Given the description of an element on the screen output the (x, y) to click on. 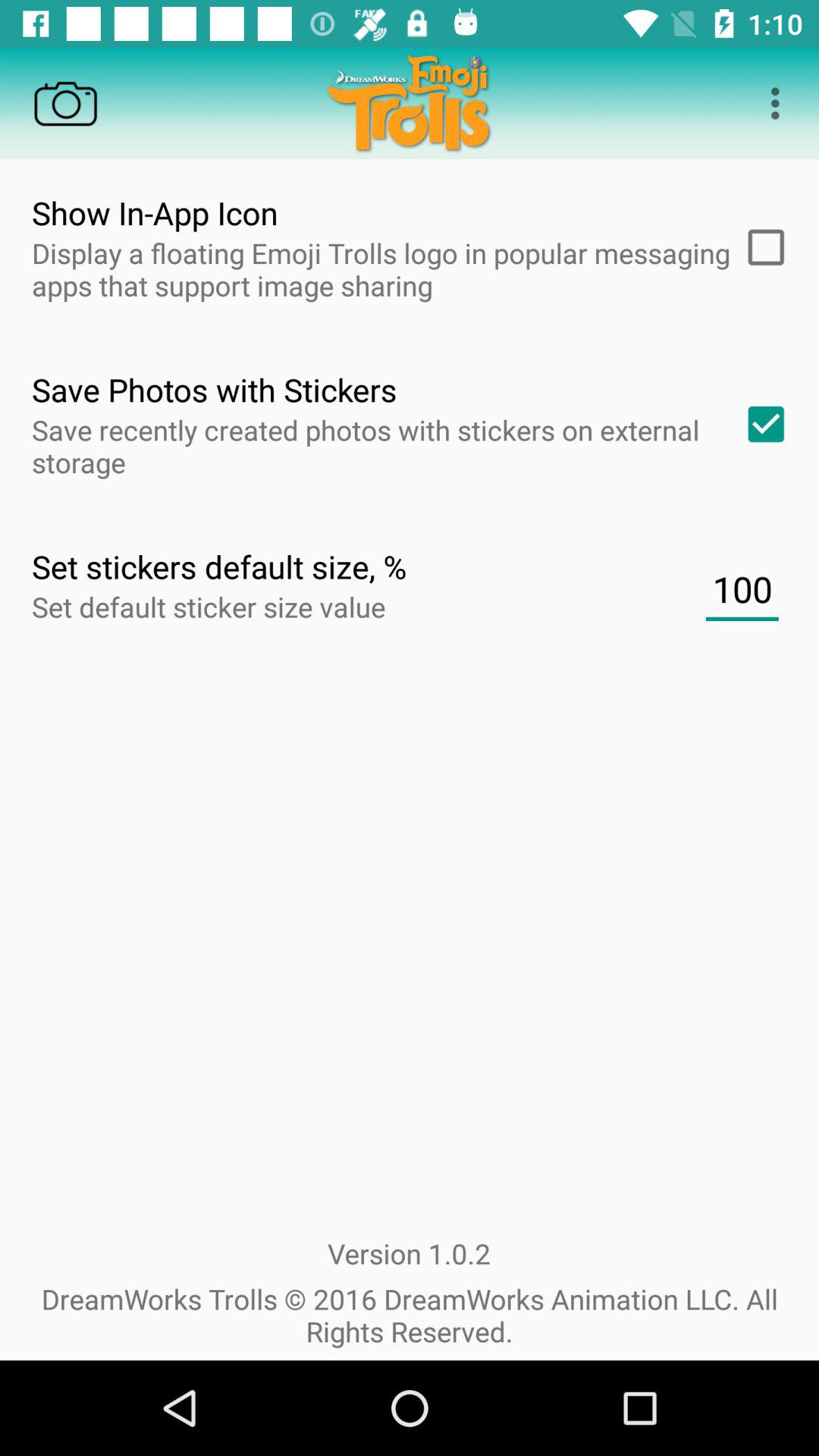
turn off the icon to the right of save recently created item (760, 424)
